Given the description of an element on the screen output the (x, y) to click on. 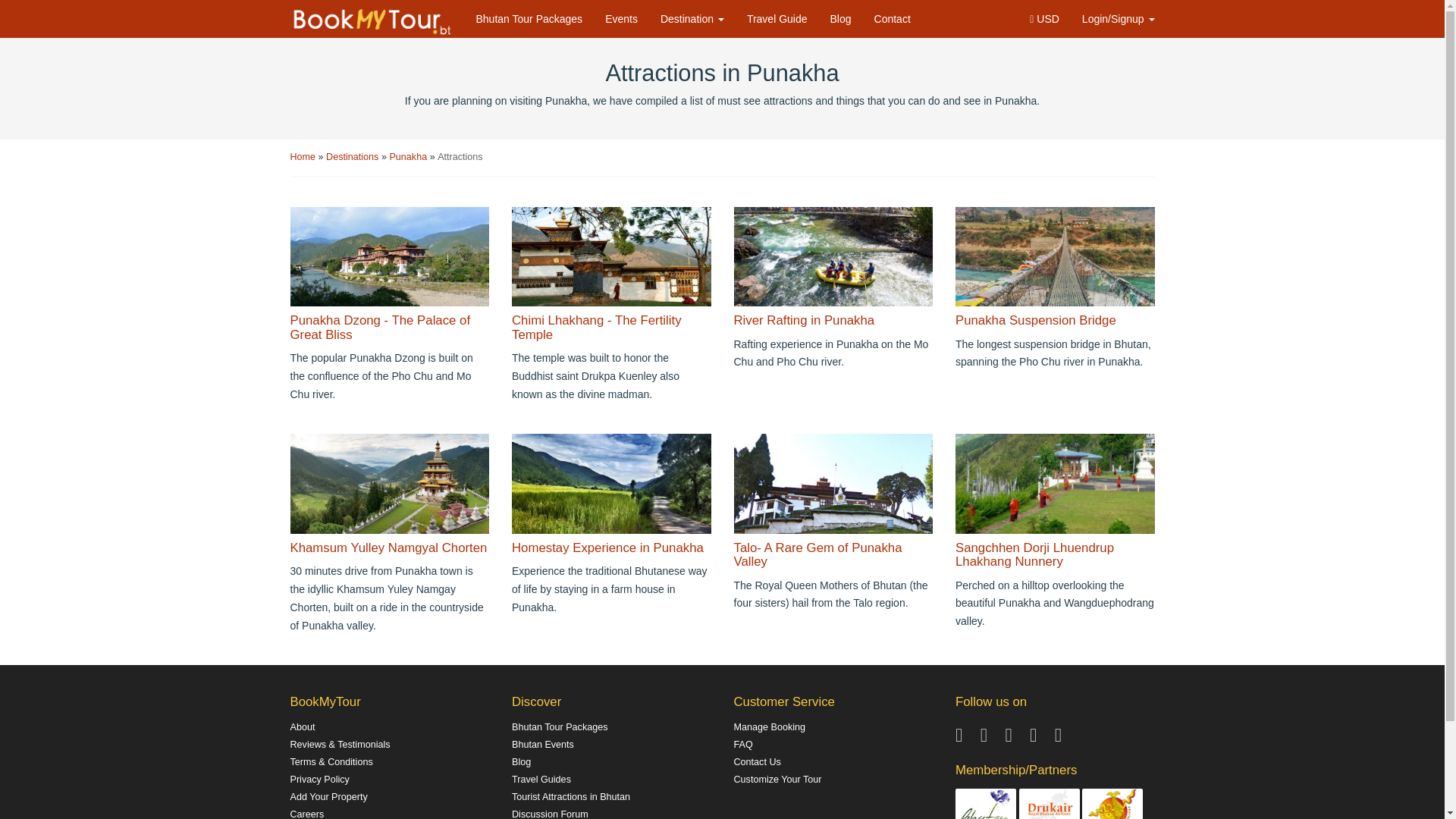
Home (303, 156)
BookMyTour (373, 22)
Events in Bhutan (621, 18)
Travel Guide (776, 18)
Contact (892, 18)
DrukAir - Royal Bhutan Airlines (1049, 808)
Blog (840, 18)
Tourism Council of Bhutan (985, 808)
Punakha (408, 156)
Destinations (353, 156)
Bhutan Tours (529, 18)
Attractions (460, 156)
Bhutan Tour Packages (529, 18)
Destination (692, 18)
Events (621, 18)
